Given the description of an element on the screen output the (x, y) to click on. 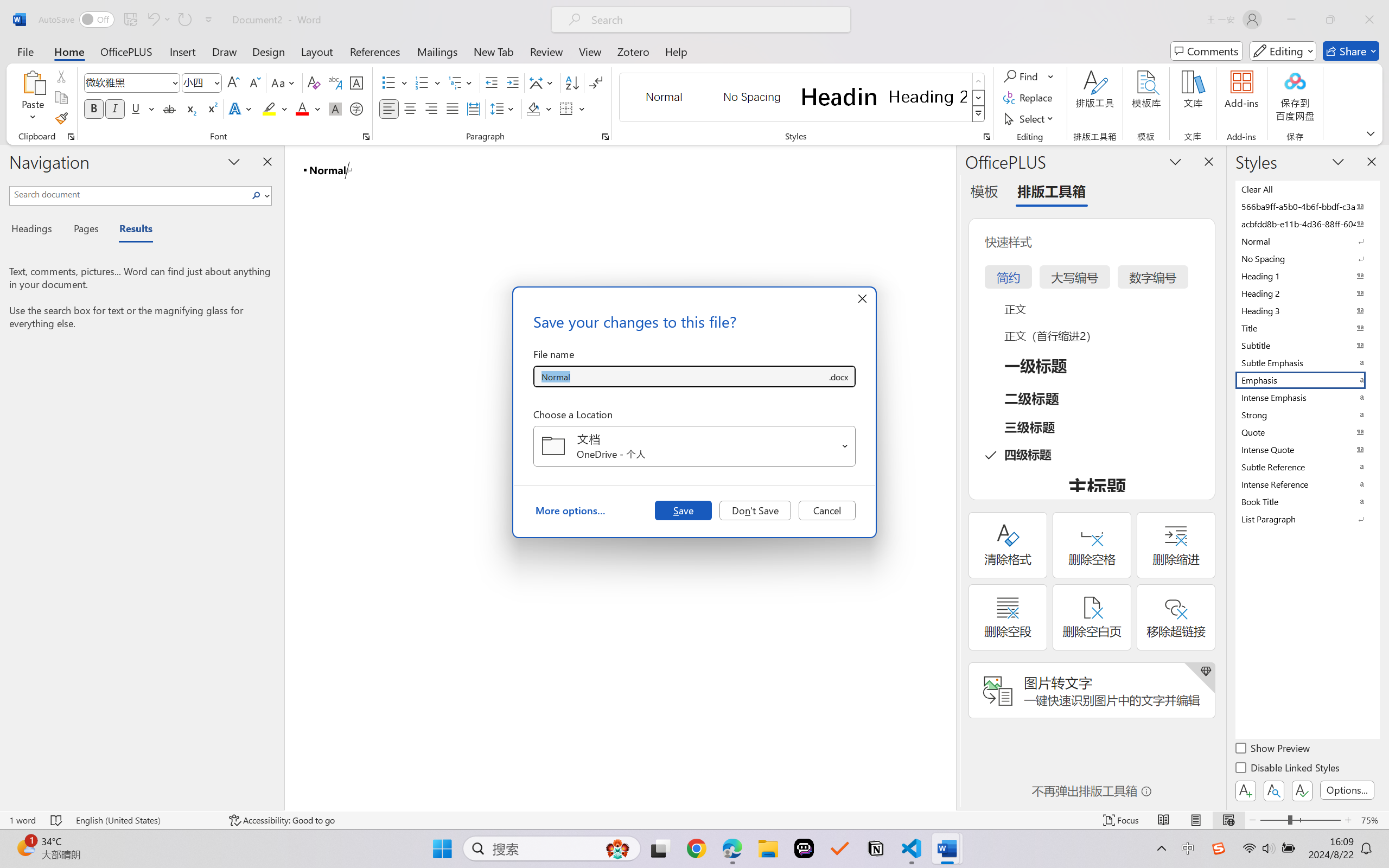
Options... (1346, 789)
OfficePLUS (126, 51)
Intense Reference (1306, 484)
AutomationID: QuickStylesGallery (802, 97)
List Paragraph (1306, 518)
Clear Formatting (313, 82)
Open (844, 446)
Underline (142, 108)
566ba9ff-a5b0-4b6f-bbdf-c3ab41993fc2 (1306, 206)
Align Left (388, 108)
